Given the description of an element on the screen output the (x, y) to click on. 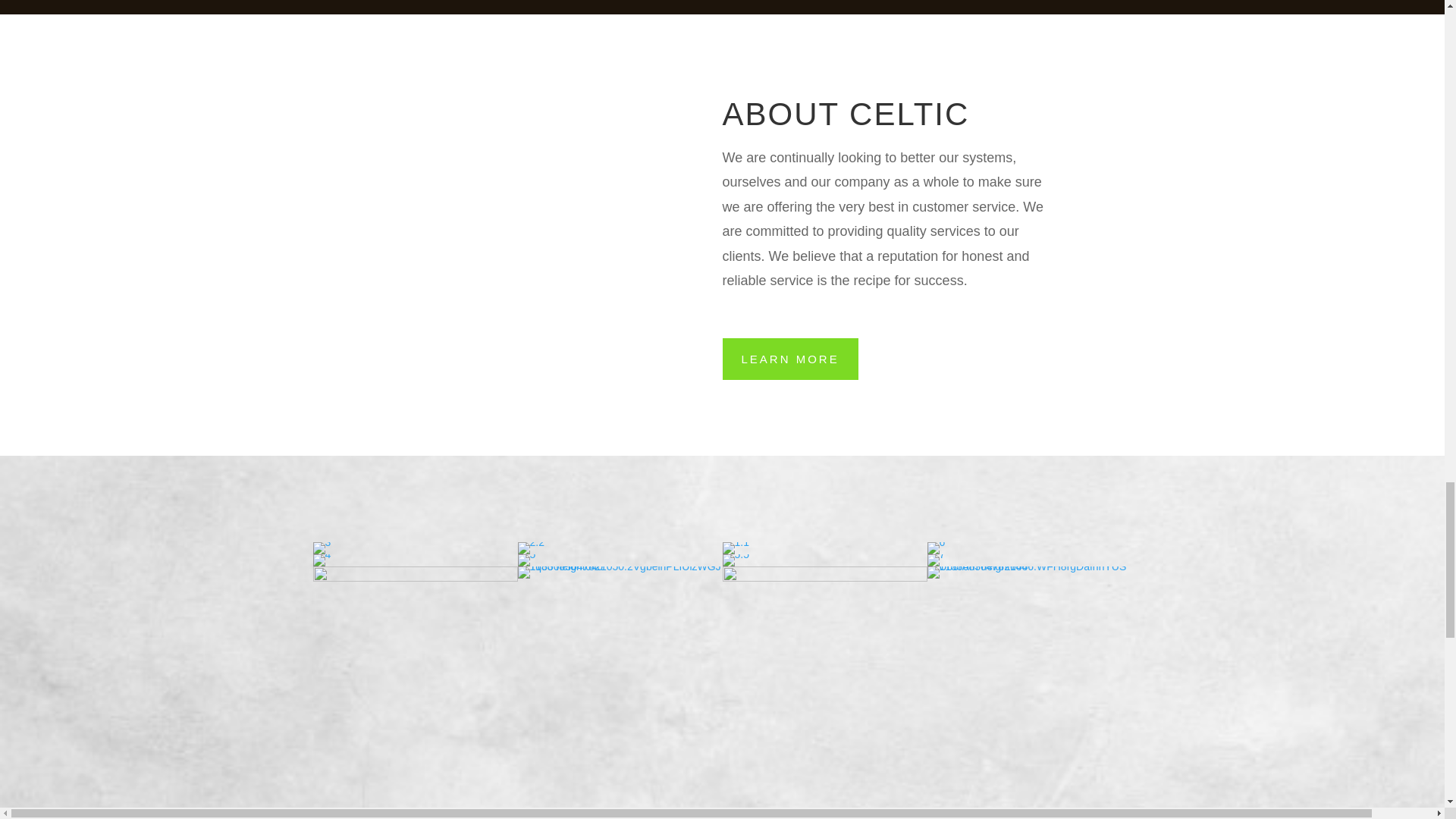
6 (935, 541)
4 (321, 553)
Home 11 (321, 560)
Home 9 (735, 548)
Home 10 (935, 548)
3 (321, 541)
1.1 (735, 541)
Home 7 (321, 548)
LEARN MORE (789, 359)
2.2 (529, 541)
